Given the description of an element on the screen output the (x, y) to click on. 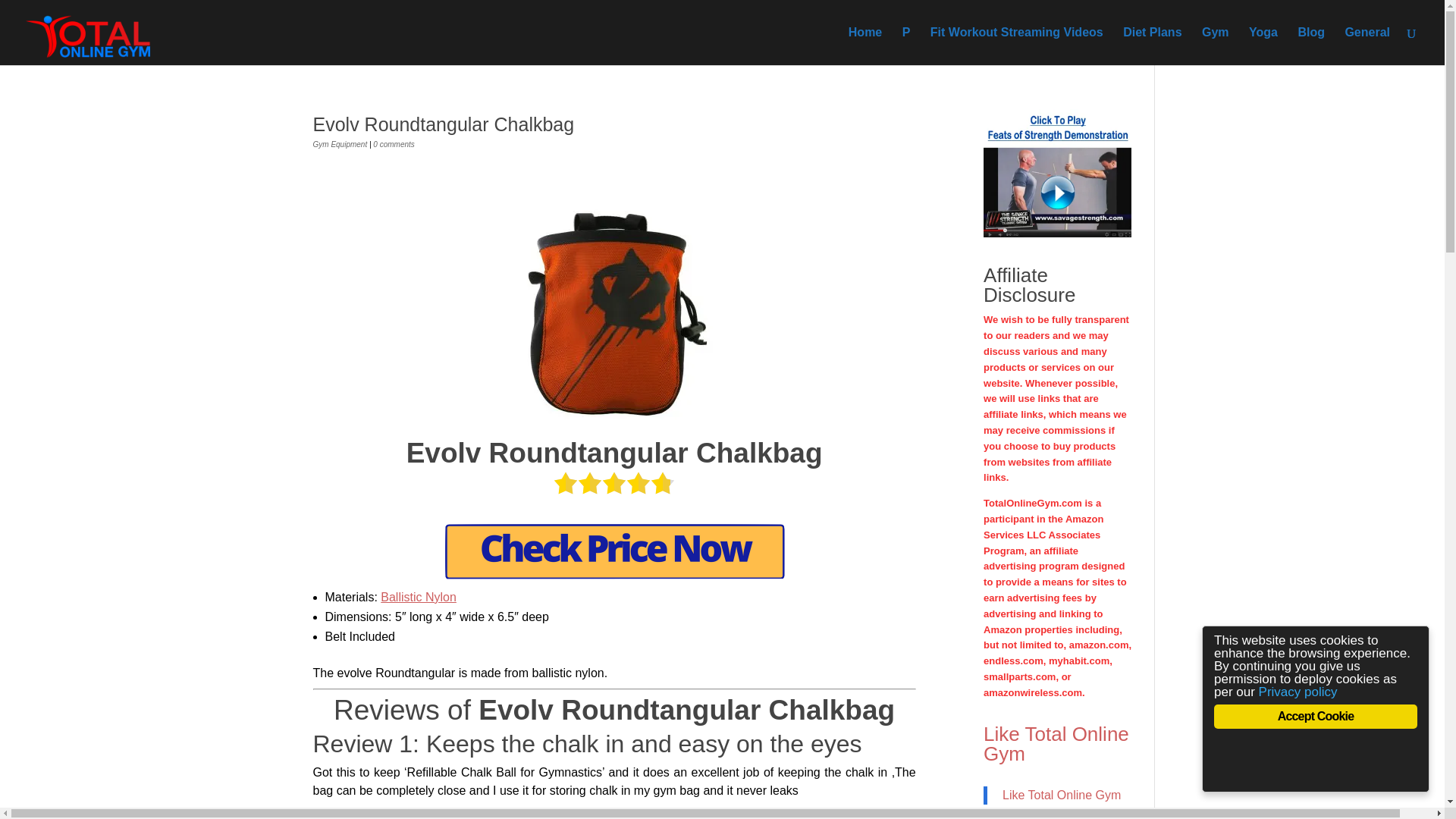
Ballistic nylon (418, 596)
Fit Workout Streaming Videos (1016, 46)
General (1366, 46)
Diet Plans (1151, 46)
